Given the description of an element on the screen output the (x, y) to click on. 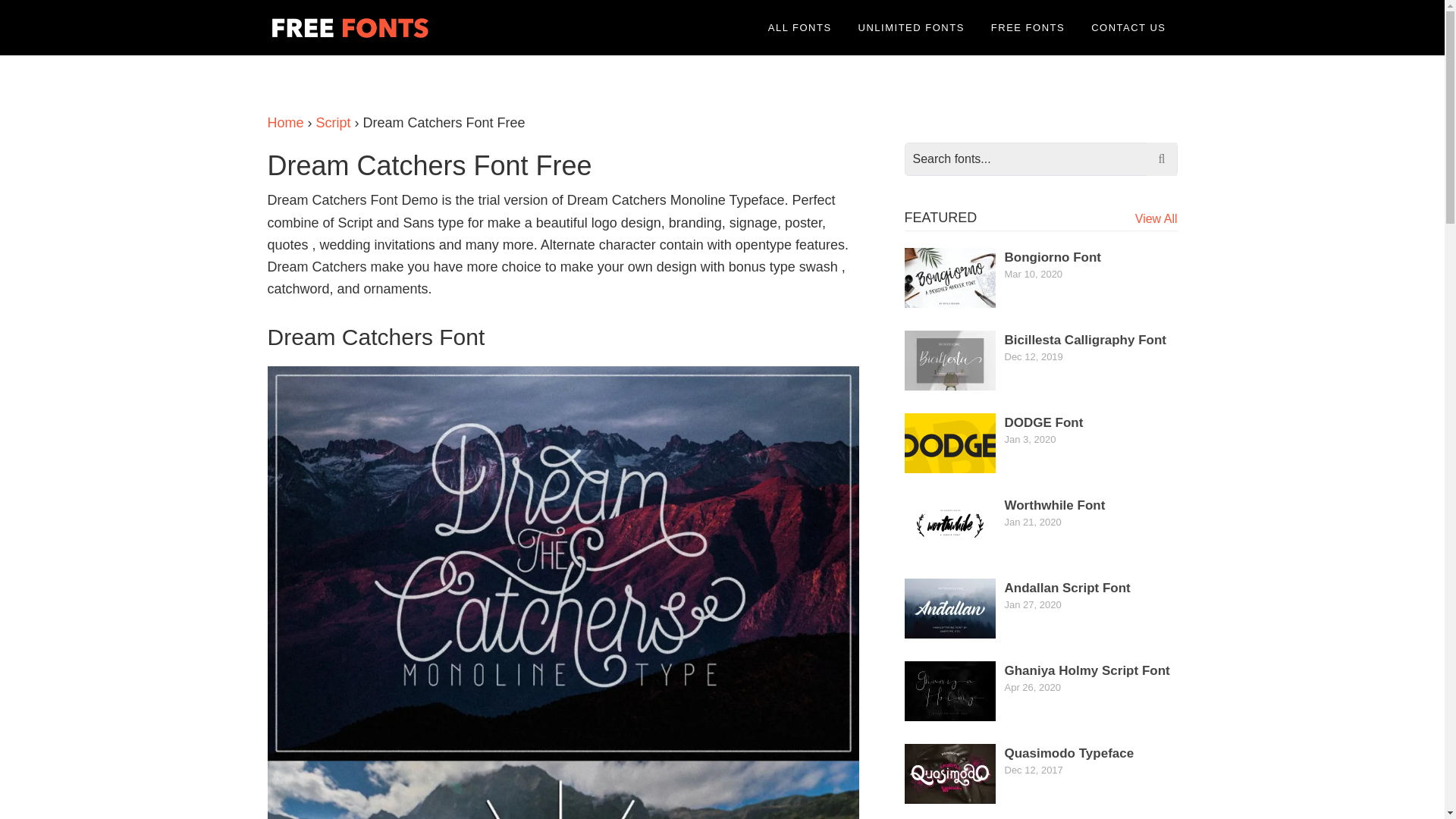
View All (1156, 218)
Script (332, 122)
Home (284, 122)
UNLIMITED FONTS (911, 27)
Bicillesta Calligraphy Font (1085, 339)
ALL FONTS (800, 27)
FREE FONTS (1027, 27)
Bongiorno Font (1052, 257)
CONTACT US (1128, 27)
DODGE Font (1043, 422)
